Given the description of an element on the screen output the (x, y) to click on. 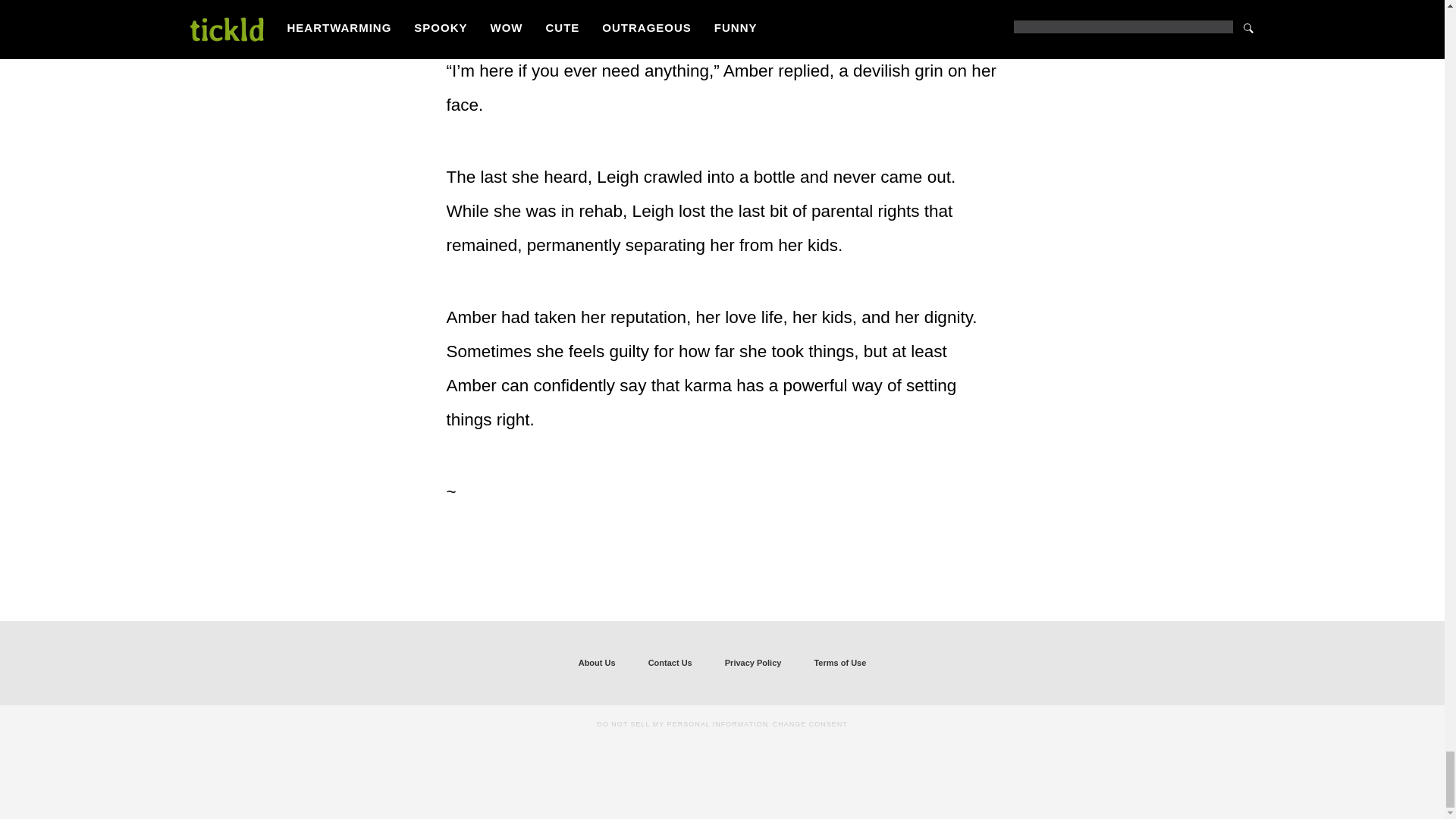
About Us (596, 662)
Contact Us (670, 662)
Privacy Policy (753, 662)
